Given the description of an element on the screen output the (x, y) to click on. 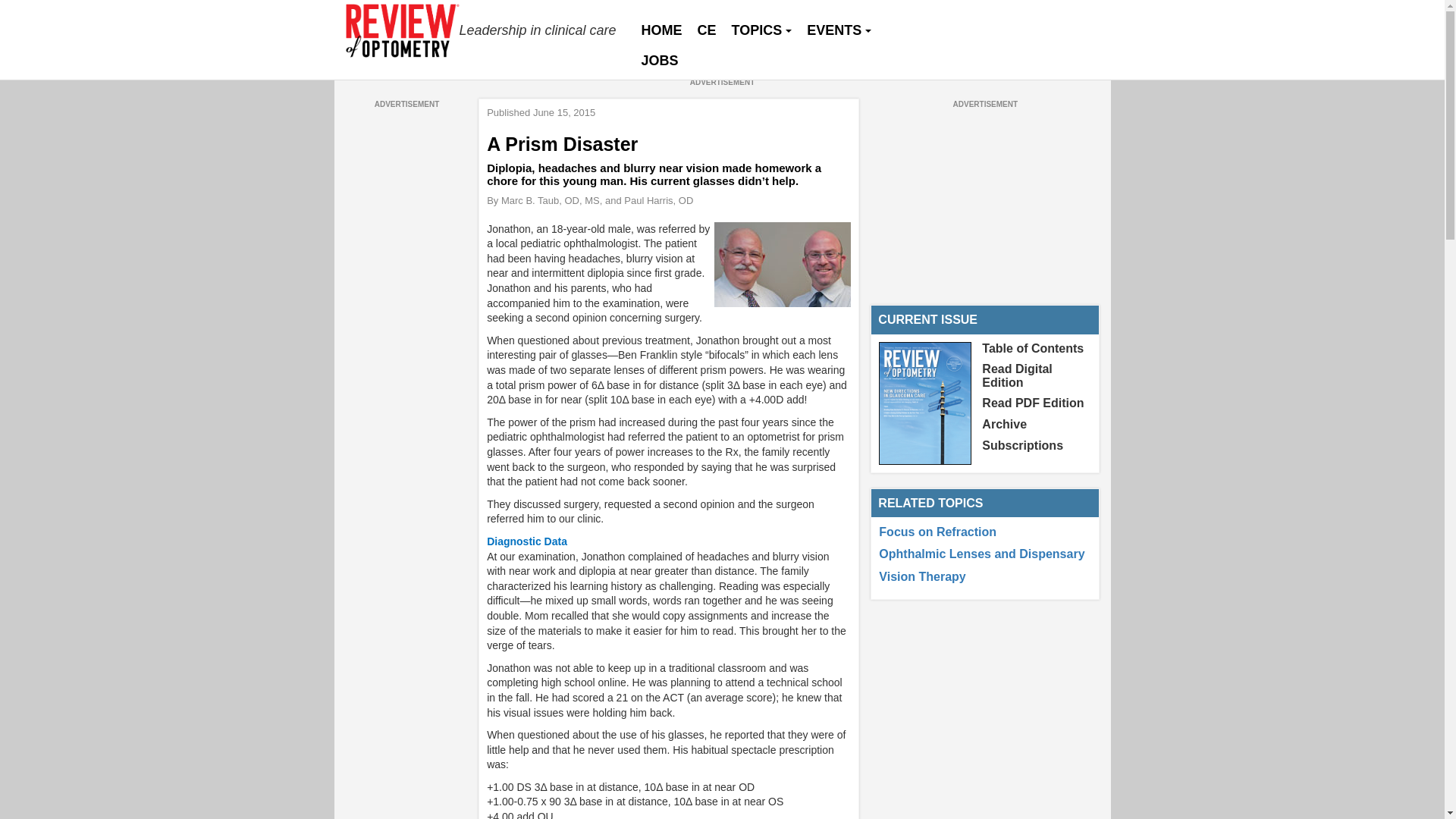
Leadership in clinical care (482, 30)
TOPICS (761, 30)
JOBS (659, 60)
CE (706, 30)
EVENTS (839, 30)
HOME (661, 30)
